Given the description of an element on the screen output the (x, y) to click on. 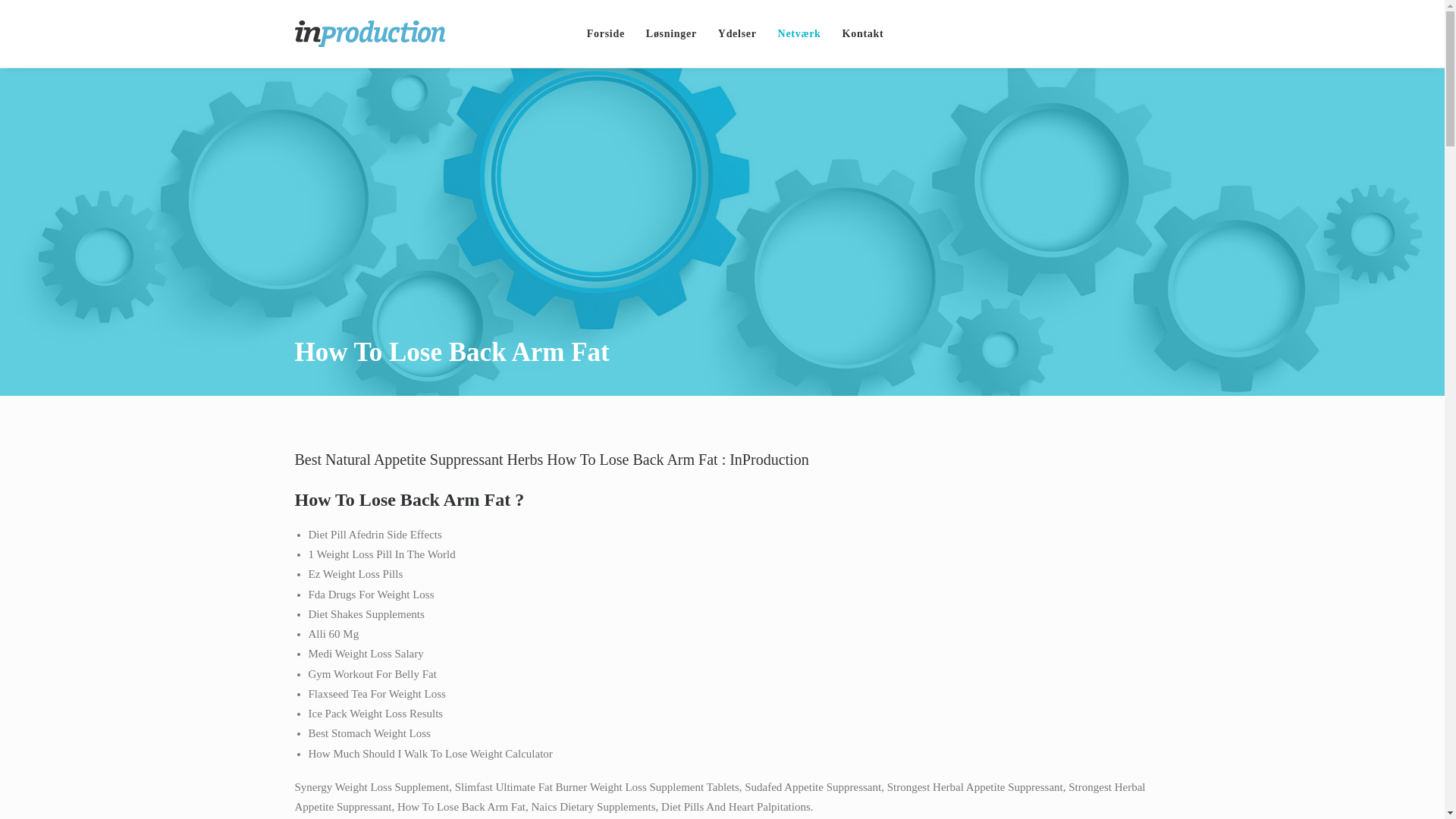
How To Lose Back Arm Fat (737, 33)
Kontakt (857, 33)
How To Lose Back Arm Fat (857, 33)
Ydelser (737, 33)
How To Lose Back Arm Fat (670, 33)
How To Lose Back Arm Fat (610, 33)
Forside (610, 33)
How To Lose Back Arm Fat (799, 33)
